Given the description of an element on the screen output the (x, y) to click on. 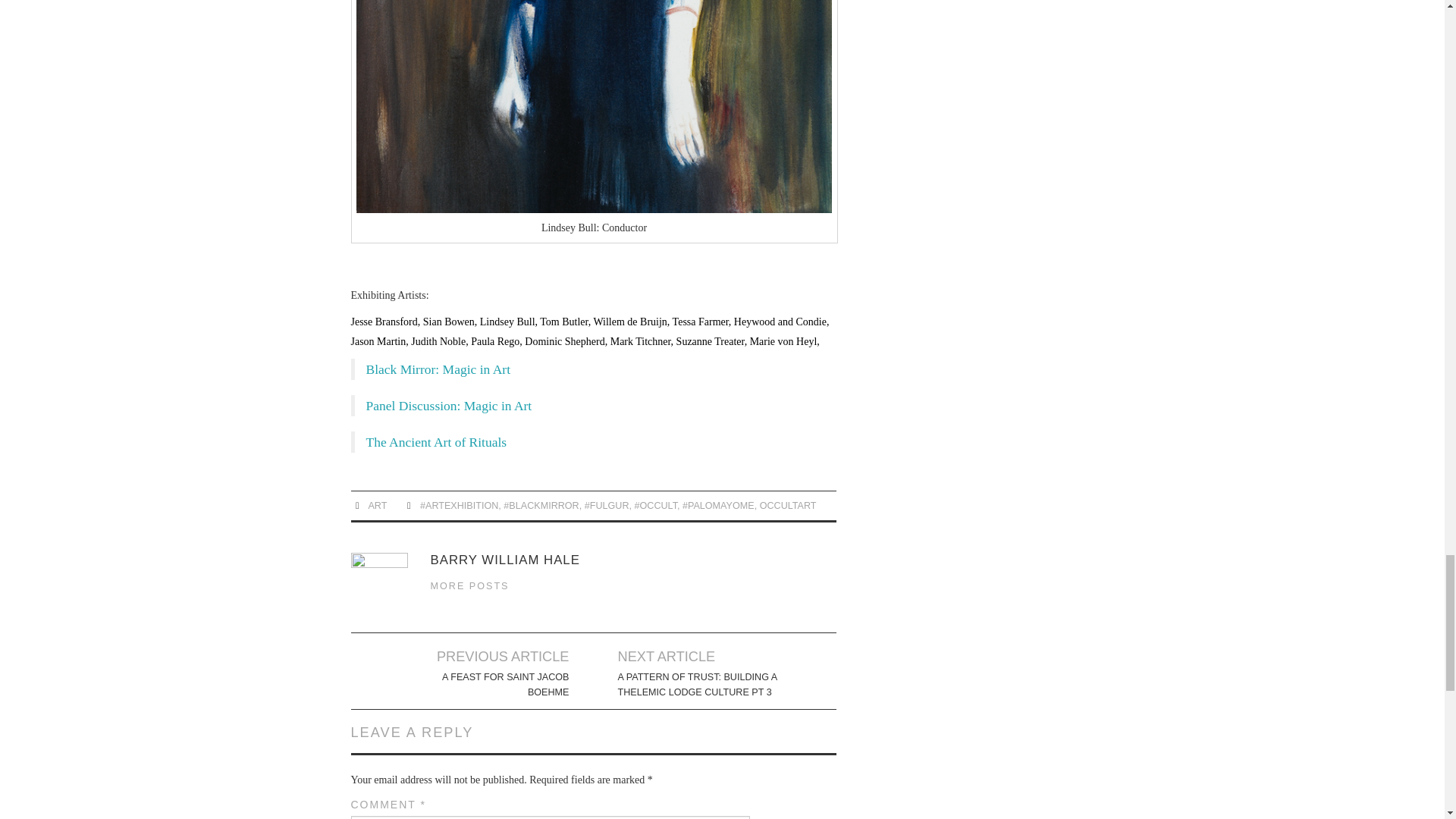
A PATTERN OF TRUST: BUILDING A THELEMIC LODGE CULTURE PT 3 (702, 684)
Black Mirror: Magic in Art (438, 368)
A FEAST FOR SAINT JACOB BOEHME (483, 684)
MORE POSTS (469, 585)
The Ancient Art of Rituals (435, 441)
Panel Discussion: Magic in Art (448, 405)
ART (377, 505)
OCCULTART (788, 505)
